Given the description of an element on the screen output the (x, y) to click on. 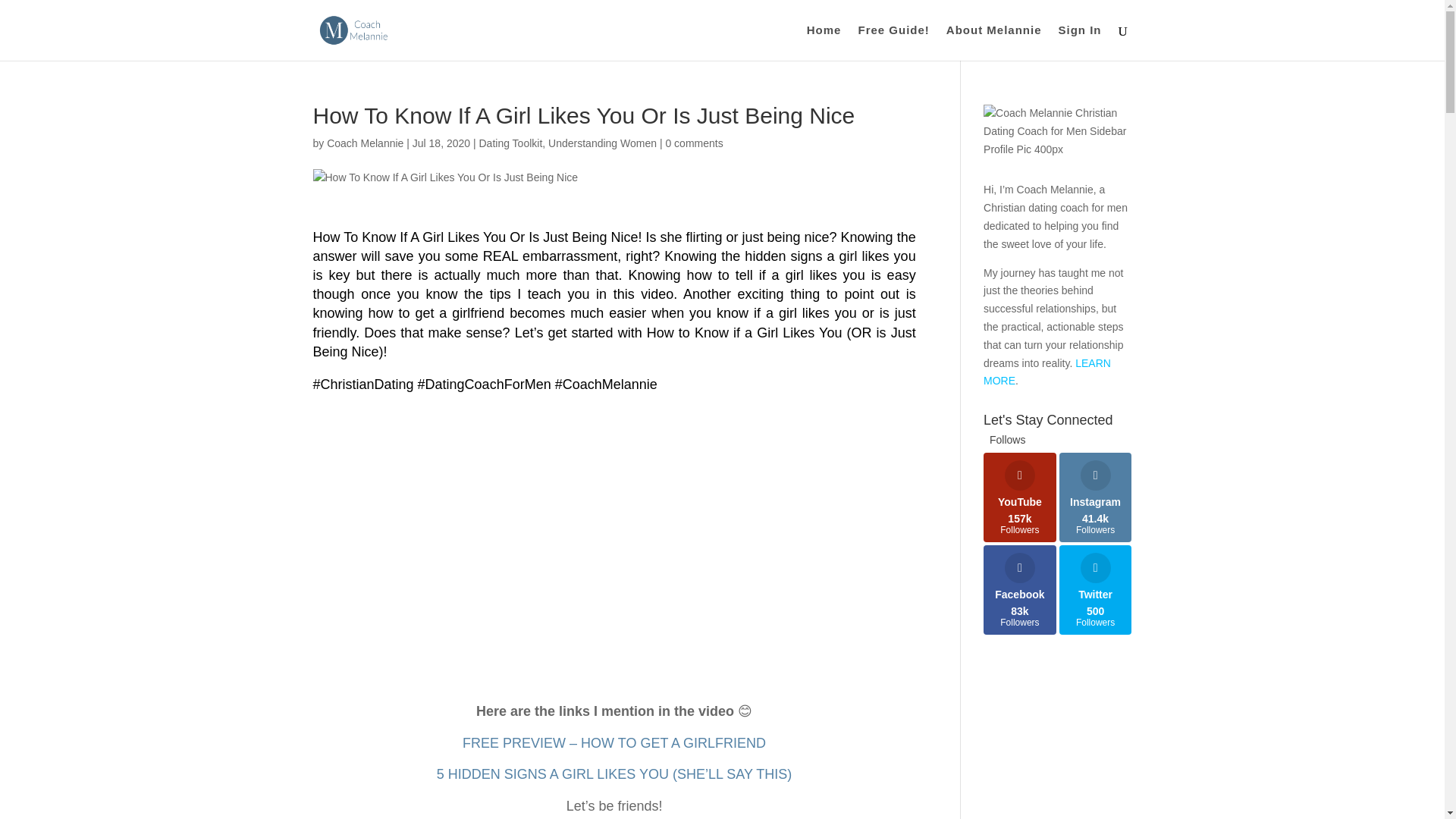
Coach Melannie (364, 143)
0 comments (693, 143)
Home (823, 42)
Dating Toolkit (511, 143)
About Melannie (994, 42)
Sign In (1080, 42)
Posts by Coach Melannie (364, 143)
Free Guide! (892, 42)
LEARN MORE (1047, 372)
Understanding Women (602, 143)
